Given the description of an element on the screen output the (x, y) to click on. 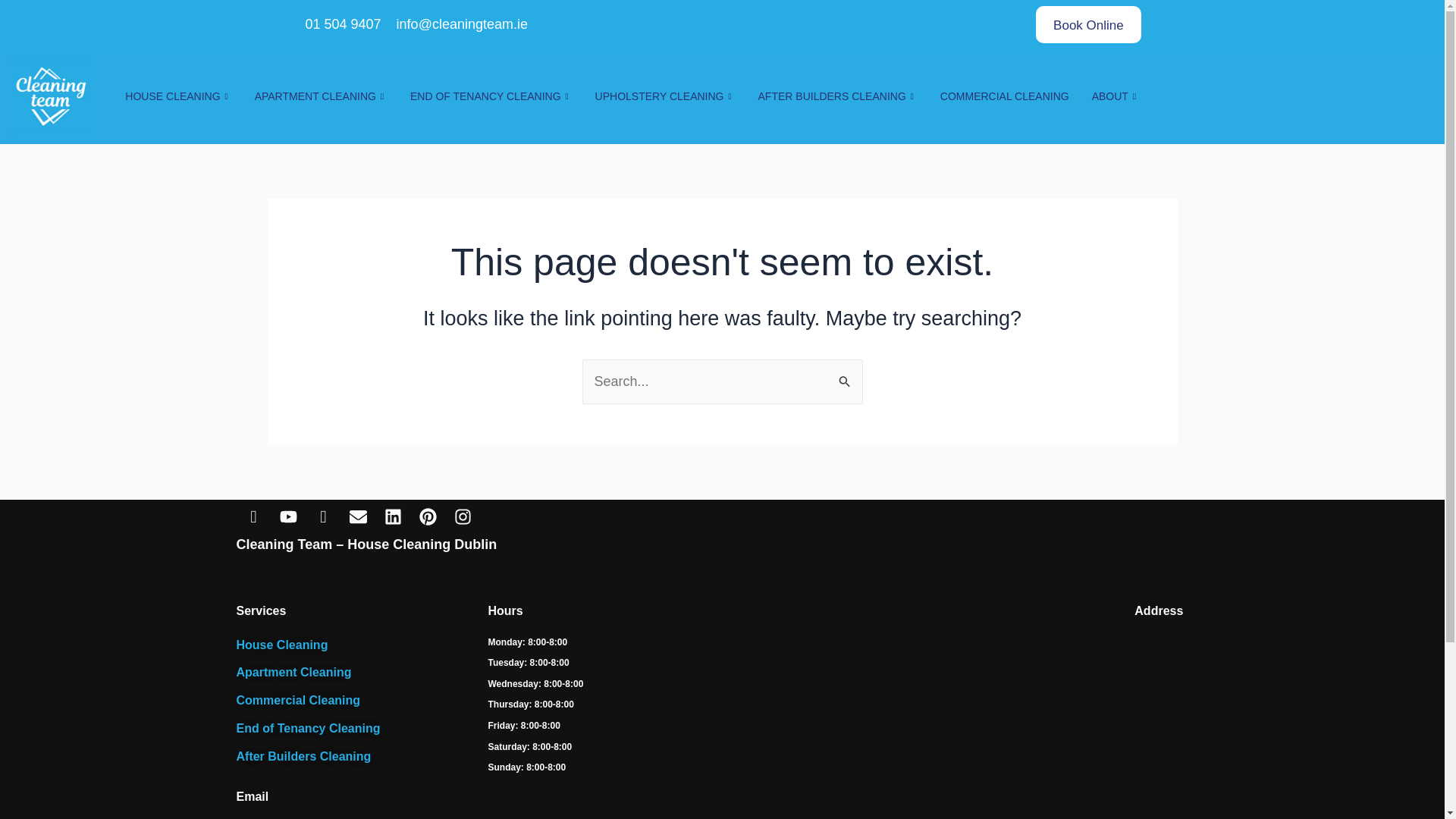
HOUSE CLEANING (178, 96)
APARTMENT CLEANING (320, 96)
Search (844, 375)
Book Online (1088, 24)
01 504 9407 (341, 24)
Search (844, 375)
